Given the description of an element on the screen output the (x, y) to click on. 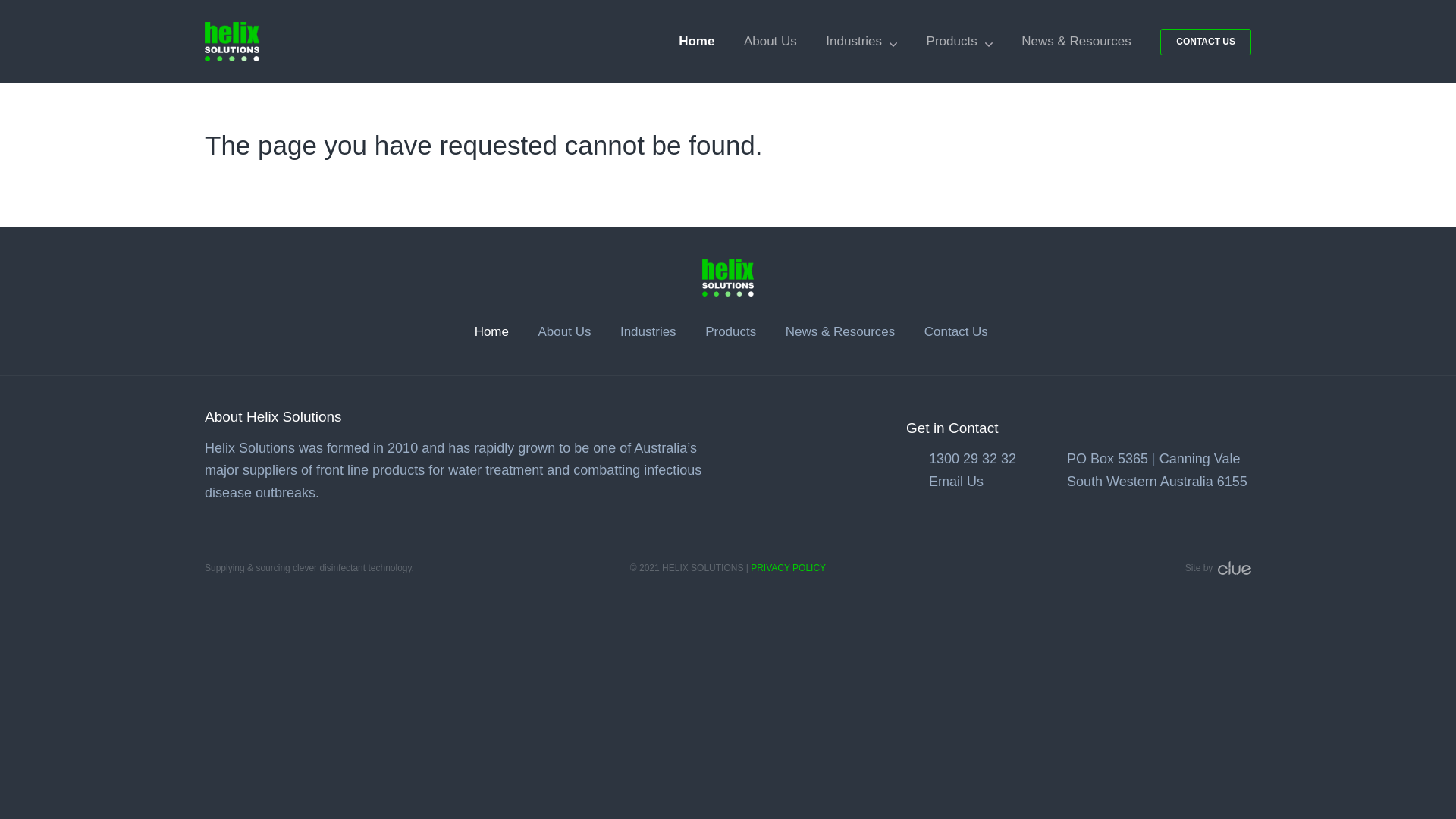
1300 29 32 32 Element type: text (972, 458)
About Us Element type: text (563, 331)
News & Resources Element type: text (840, 331)
Industries Element type: text (861, 41)
PRIVACY POLICY Element type: text (787, 567)
About Us Element type: text (770, 41)
Industries Element type: text (648, 331)
CONTACT US Element type: text (1205, 41)
Email Us Element type: text (955, 481)
Contact Us Element type: text (956, 331)
News & Resources Element type: text (1076, 41)
Products Element type: text (730, 331)
  Element type: text (1233, 567)
Home Element type: text (696, 41)
Products Element type: text (959, 41)
Home Element type: text (491, 331)
